Given the description of an element on the screen output the (x, y) to click on. 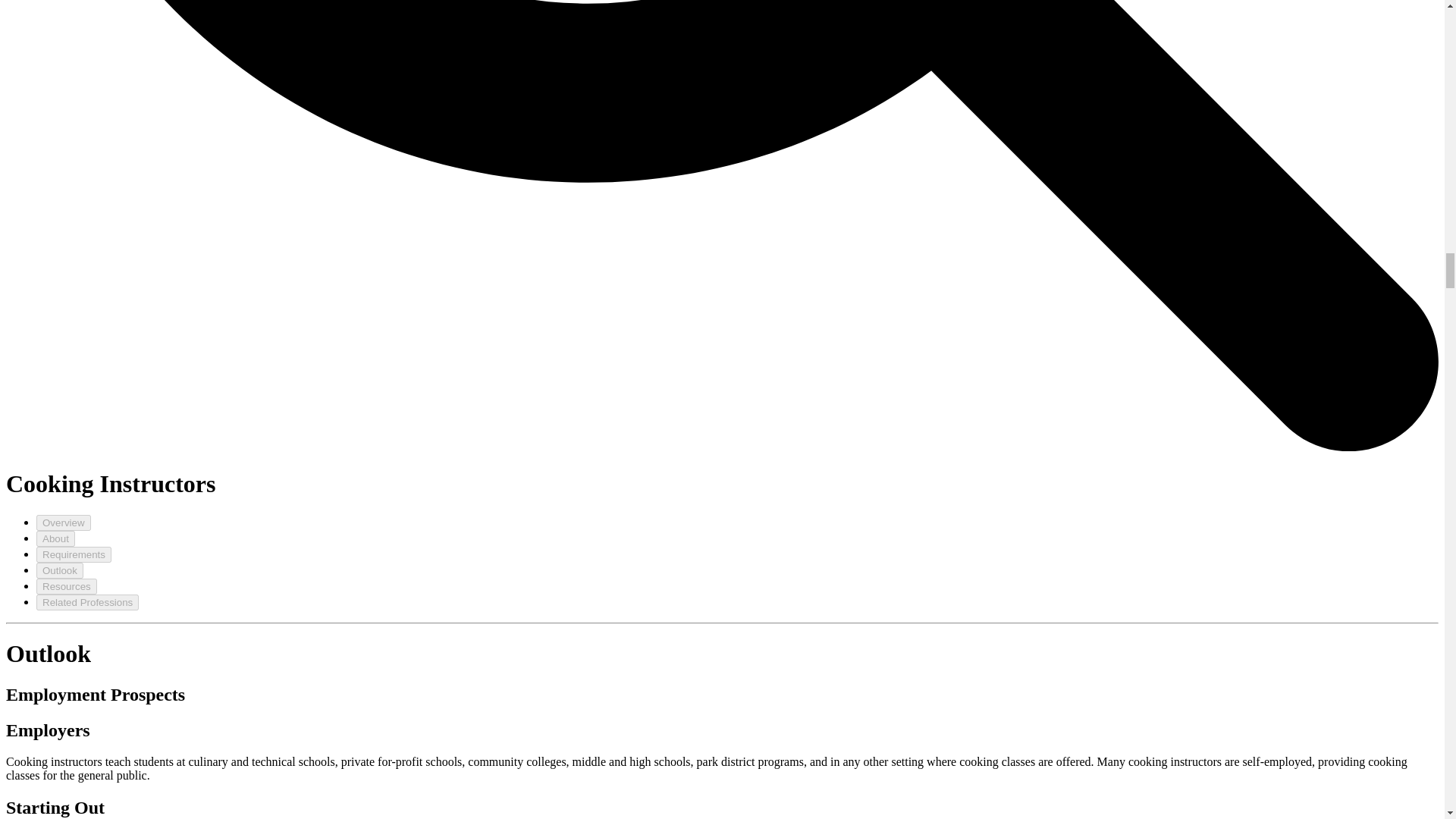
About (55, 538)
Overview (63, 522)
Related Professions (87, 602)
Outlook (59, 570)
Resources (66, 586)
Requirements (74, 554)
